Given the description of an element on the screen output the (x, y) to click on. 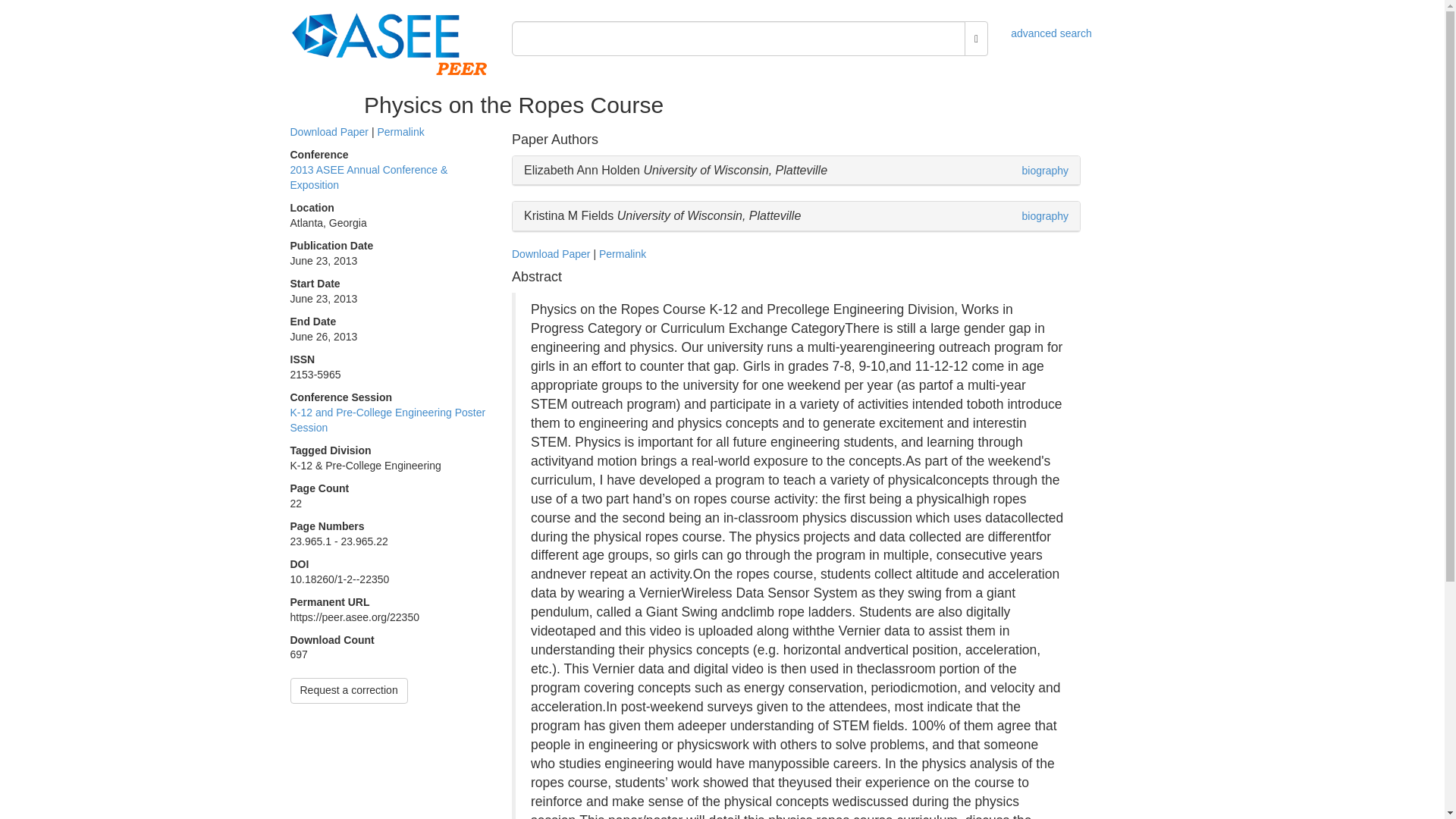
biography (1045, 215)
Permalink (622, 254)
Request a correction (348, 690)
Download Paper (551, 254)
K-12 and Pre-College Engineering Poster Session (386, 420)
advanced search (1051, 33)
biography (1045, 170)
Permalink (400, 132)
Download Paper (328, 132)
